Given the description of an element on the screen output the (x, y) to click on. 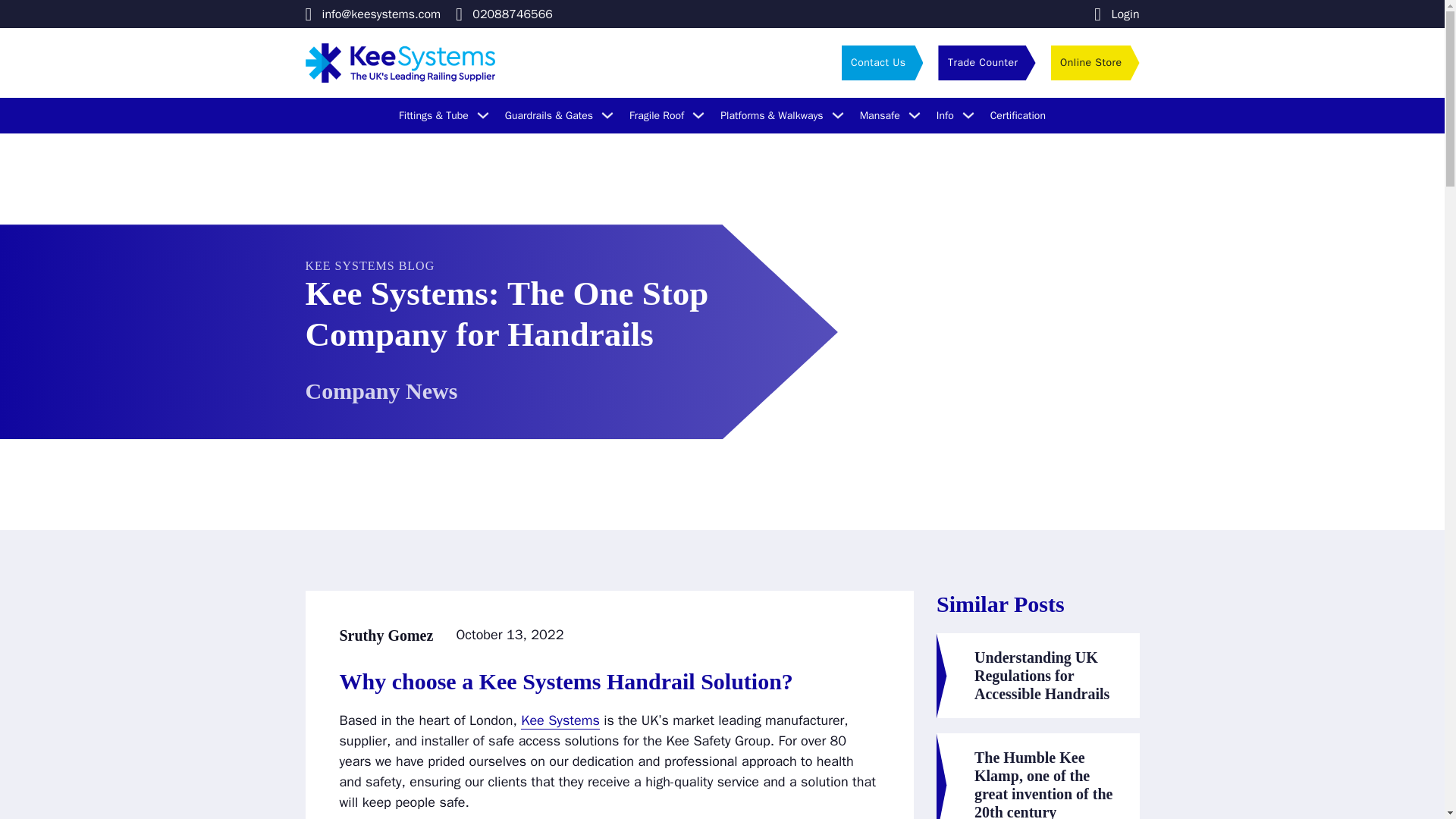
Login (1116, 13)
Online Store (1095, 62)
Contact Us (882, 62)
Fragile Roof (656, 115)
02088746566 (504, 13)
Trade Counter (986, 62)
